Given the description of an element on the screen output the (x, y) to click on. 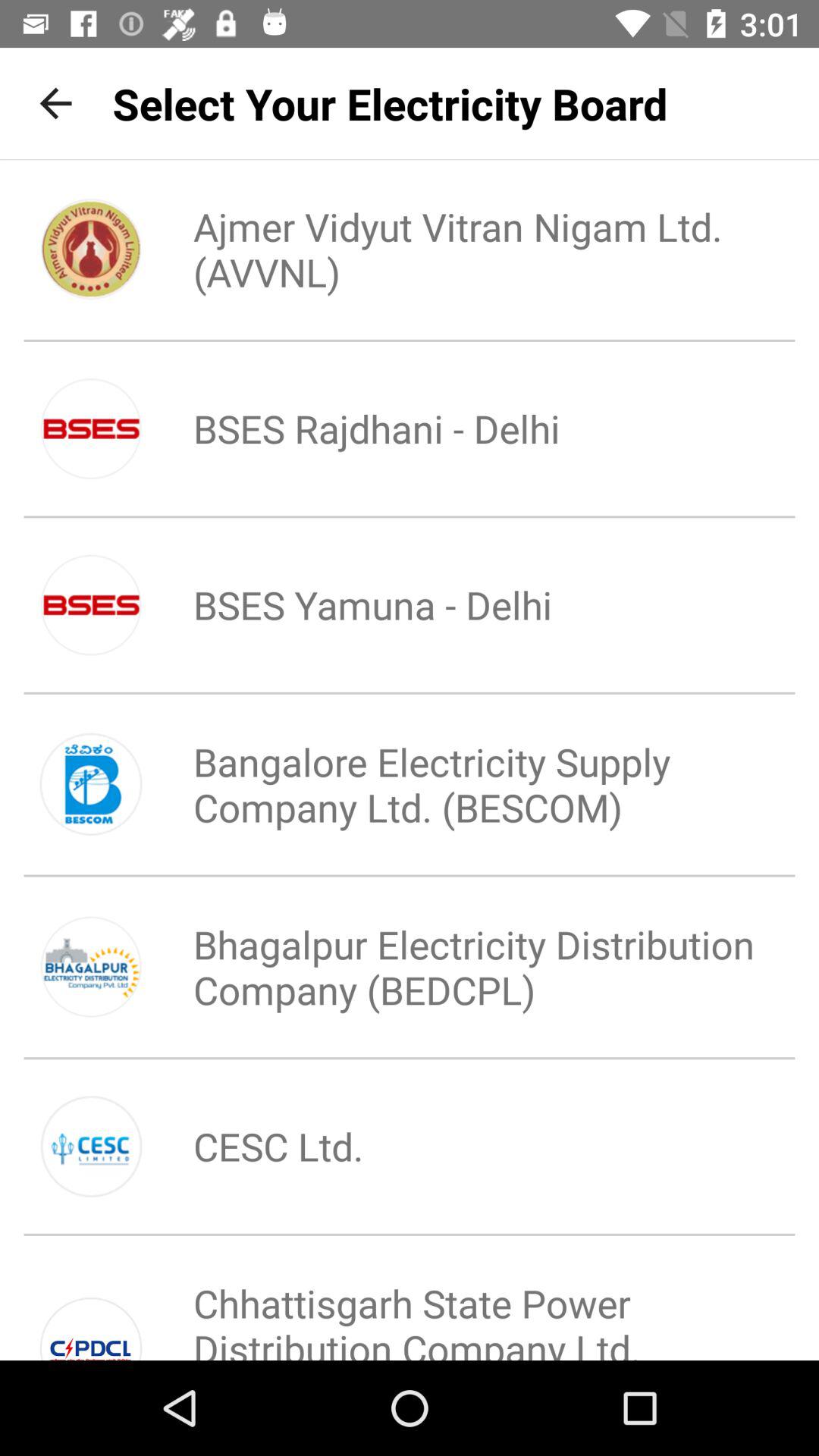
turn off the bangalore electricity supply item (460, 784)
